Given the description of an element on the screen output the (x, y) to click on. 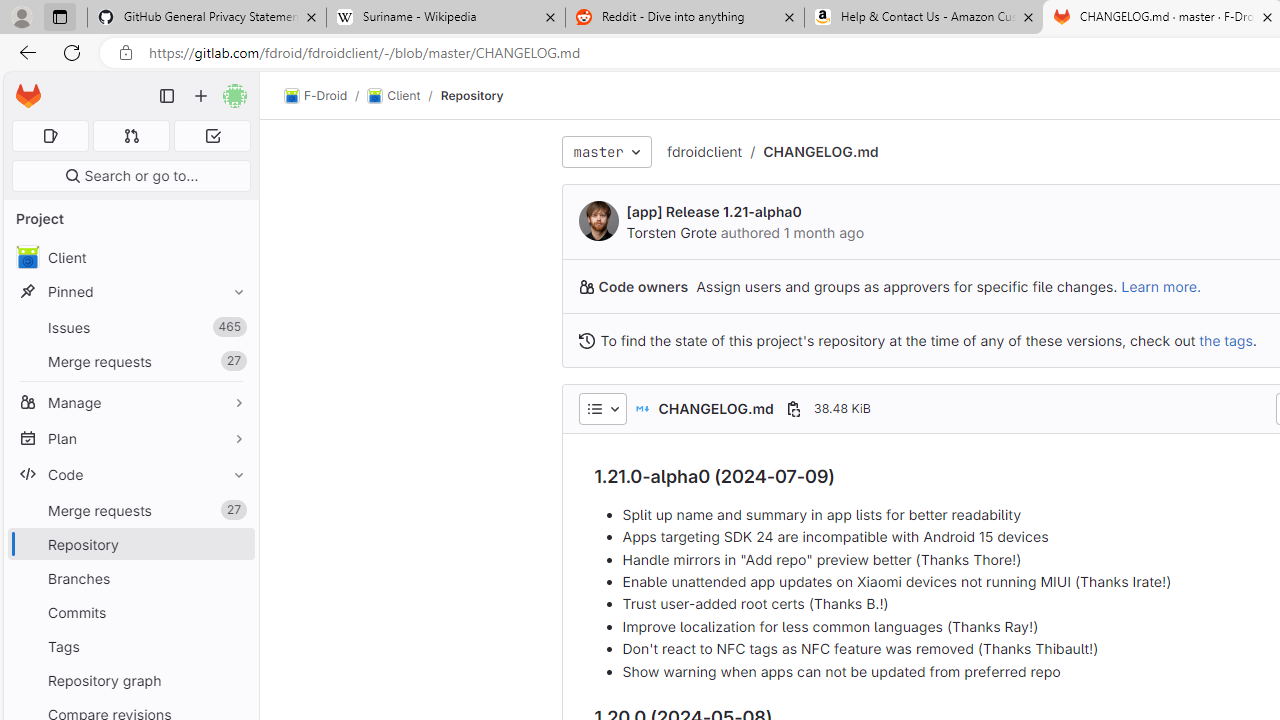
Torsten Grote's avatar (598, 220)
Branches (130, 578)
Commits (130, 612)
Class: s16 gl-mr-1 gl-align-text-bottom (586, 340)
Pinned (130, 291)
avatar (27, 257)
Torsten Grote (670, 232)
/CHANGELOG.md (810, 151)
Branches (130, 578)
fdroidclient (703, 151)
Repository (472, 95)
